Given the description of an element on the screen output the (x, y) to click on. 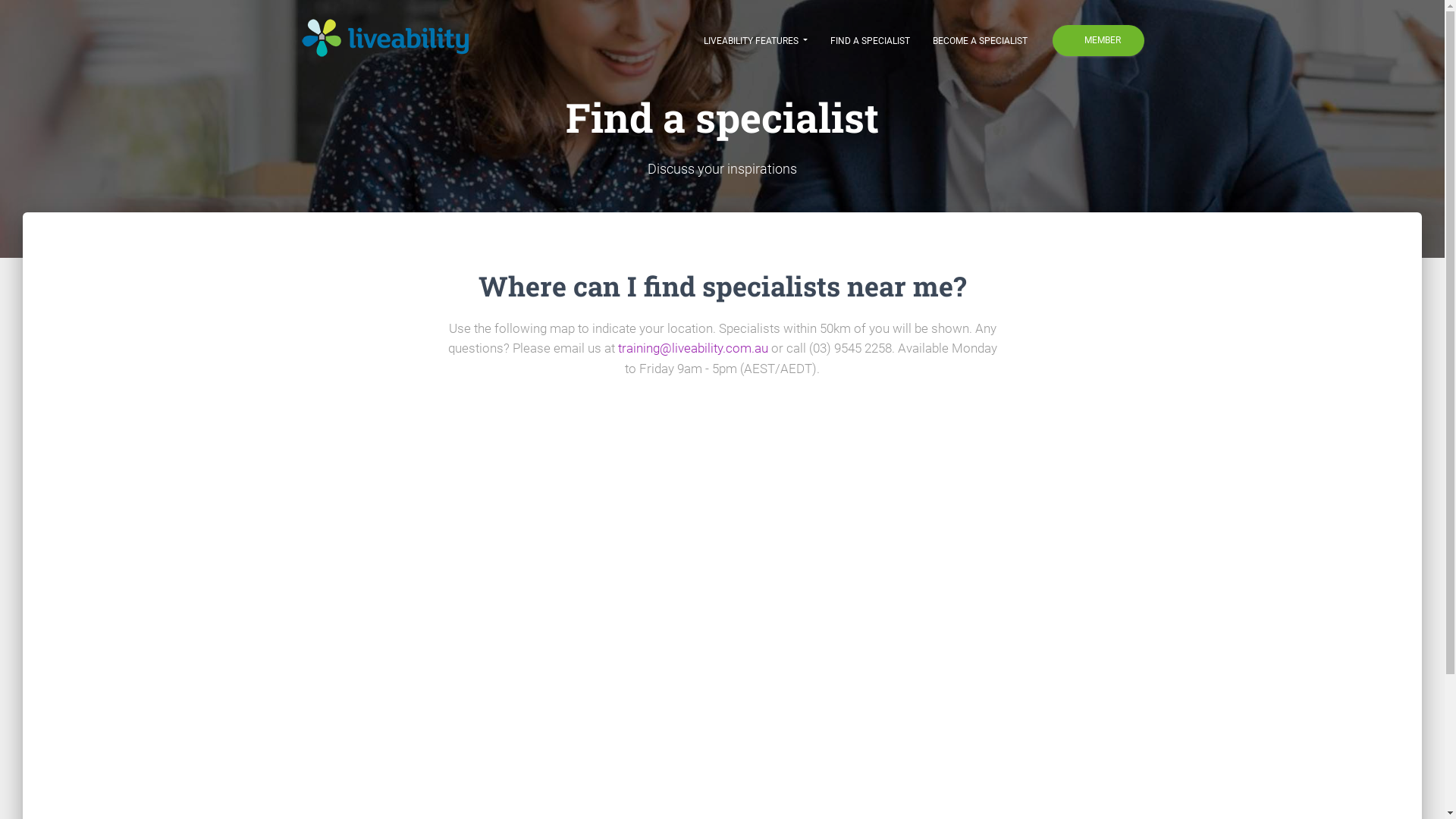
FIND A SPECIALIST Element type: text (870, 40)
training@liveability.com.au Element type: text (692, 347)
BECOME A SPECIALIST Element type: text (979, 40)
LIVEABILITY FEATURES Element type: text (755, 40)
MEMBER Element type: text (1098, 40)
